Given the description of an element on the screen output the (x, y) to click on. 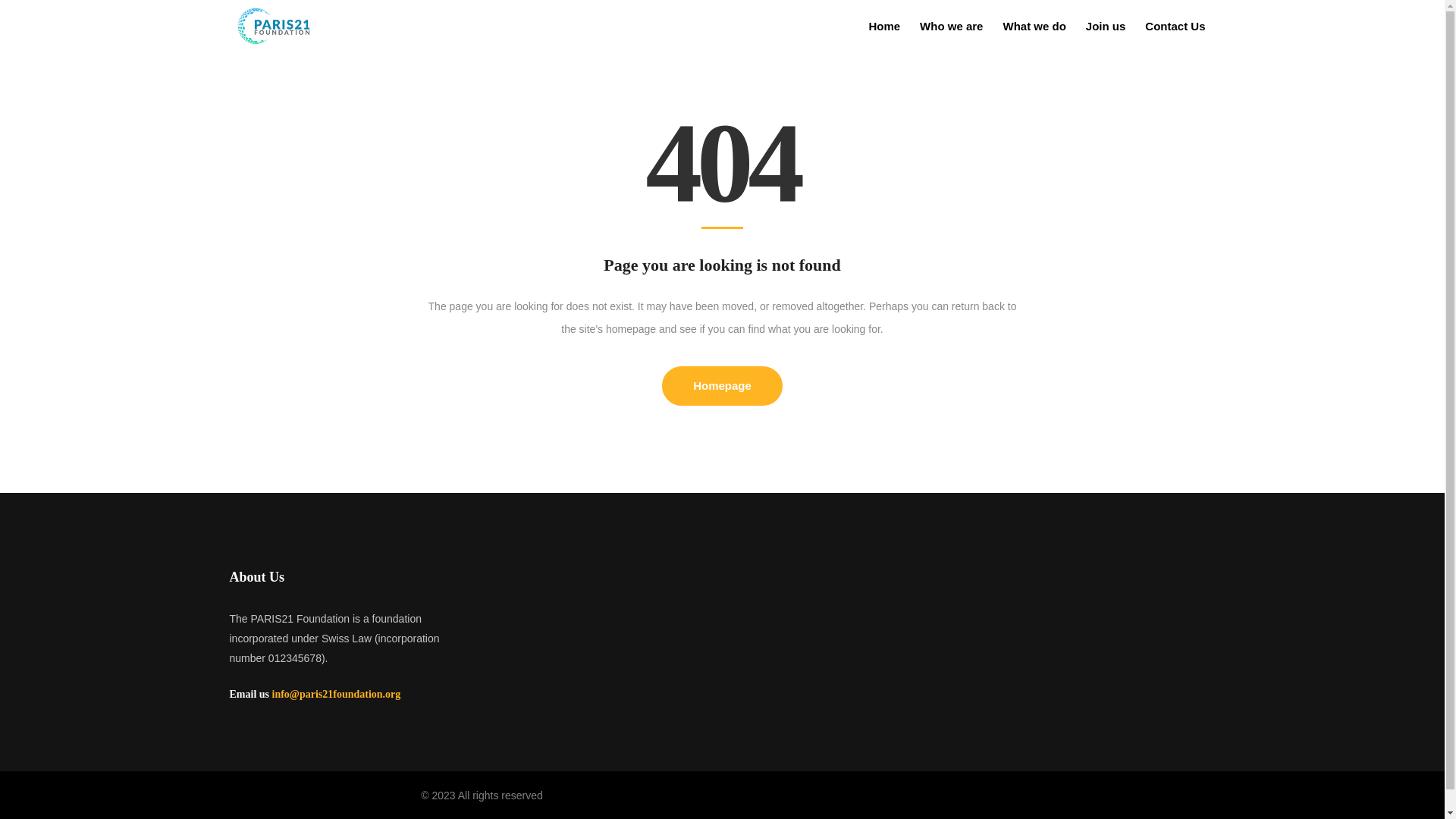
Contact Us (1174, 26)
Join us (1105, 26)
Who we are (951, 26)
What we do (1033, 26)
Home (884, 26)
